Given the description of an element on the screen output the (x, y) to click on. 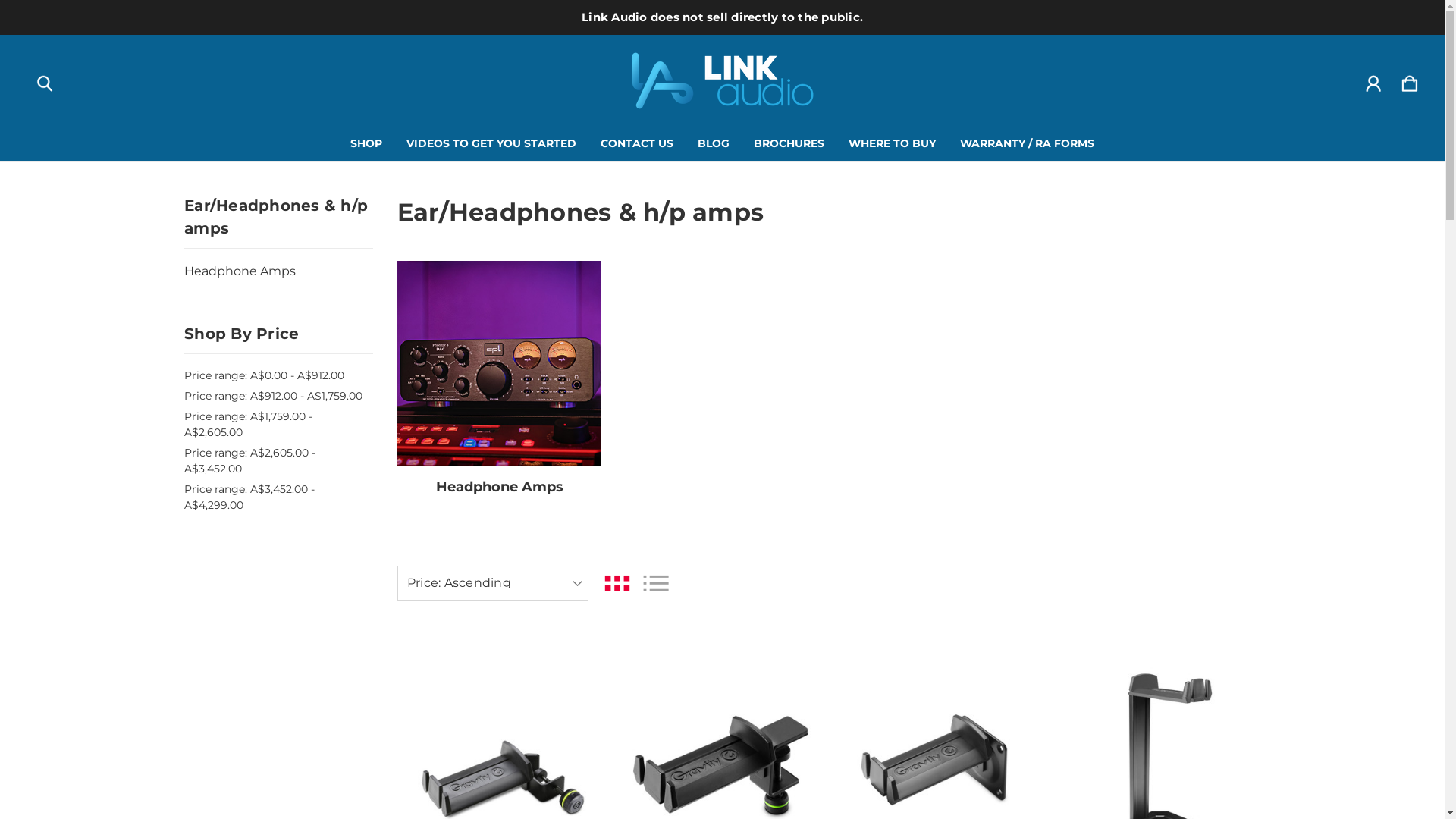
Price range: A$3,452.00 - A$4,299.00 Element type: text (278, 497)
Price range: A$0.00 - A$912.00 Element type: text (278, 375)
Price range: A$1,759.00 - A$2,605.00 Element type: text (278, 424)
CONTACT US Element type: text (636, 143)
BROCHURES Element type: text (788, 143)
Toggle Grid View Element type: hover (616, 582)
Price range: A$912.00 - A$1,759.00 Element type: text (278, 395)
Toggle List View Element type: hover (655, 582)
WHERE TO BUY Element type: text (891, 143)
BLOG Element type: text (713, 143)
Headphone Amps Element type: text (278, 271)
WARRANTY / RA FORMS Element type: text (1027, 143)
Price range: A$2,605.00 - A$3,452.00 Element type: text (278, 460)
SHOP Element type: text (366, 143)
Headphone Amps Element type: text (499, 486)
Link Audio Element type: hover (722, 80)
VIDEOS TO GET YOU STARTED Element type: text (491, 143)
